Given the description of an element on the screen output the (x, y) to click on. 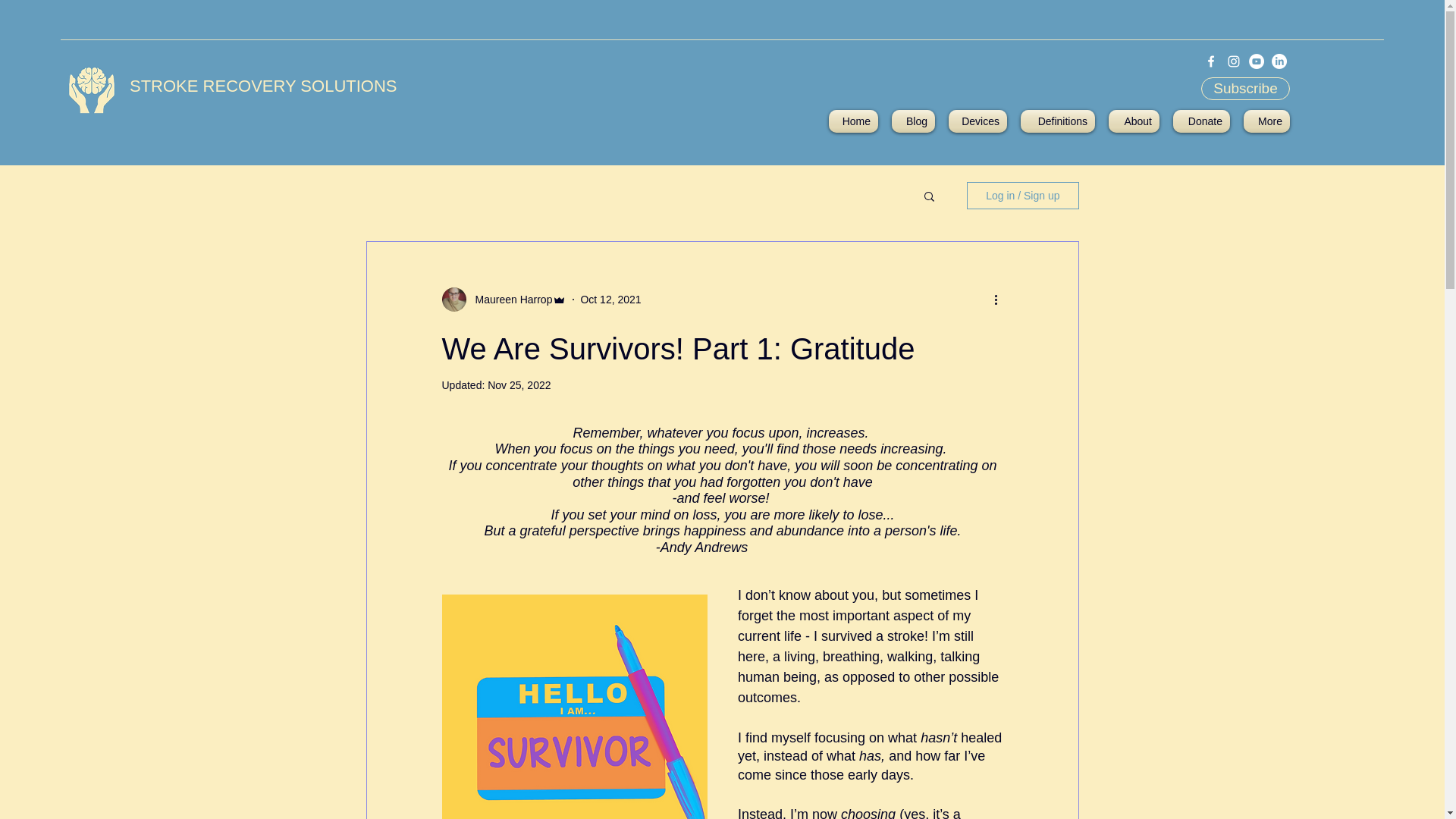
Nov 25, 2022 (518, 385)
Oct 12, 2021 (609, 298)
Devices (977, 120)
Maureen Harrop (508, 299)
Home (856, 120)
Definitions (1057, 120)
Subscribe (1245, 87)
Donate (1201, 120)
STROKE RECOVERY SOLUTIONS (263, 85)
About (1134, 120)
Blog (913, 120)
Maureen Harrop (503, 299)
